Given the description of an element on the screen output the (x, y) to click on. 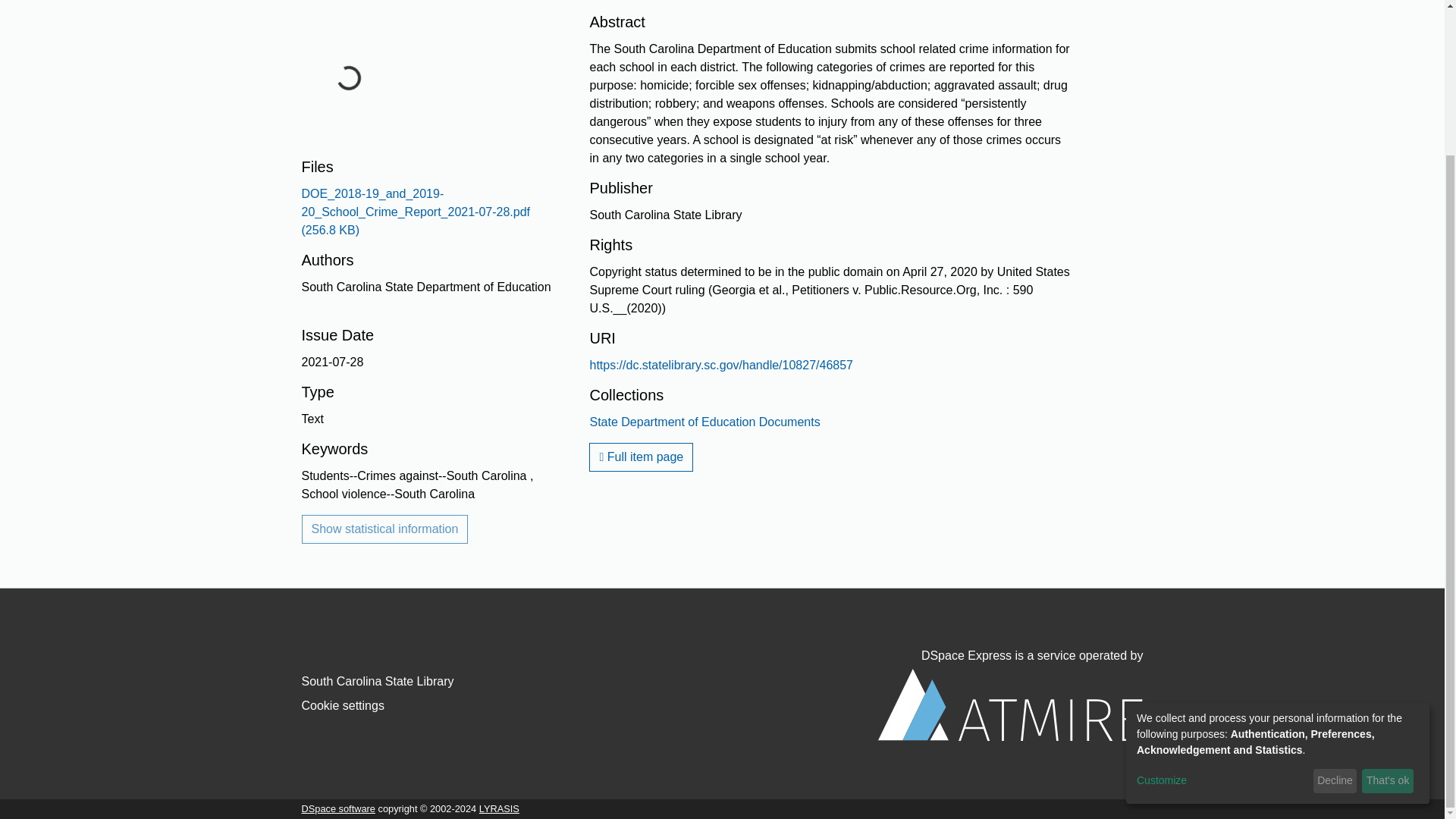
DSpace Express is a service operated by (1009, 695)
That's ok (1387, 599)
South Carolina State Library (377, 680)
State Department of Education Documents (704, 421)
Cookie settings (342, 705)
Customize (1222, 599)
Full item page (641, 457)
Show statistical information (384, 529)
Decline (1334, 599)
LYRASIS (499, 808)
DSpace software (338, 808)
